Given the description of an element on the screen output the (x, y) to click on. 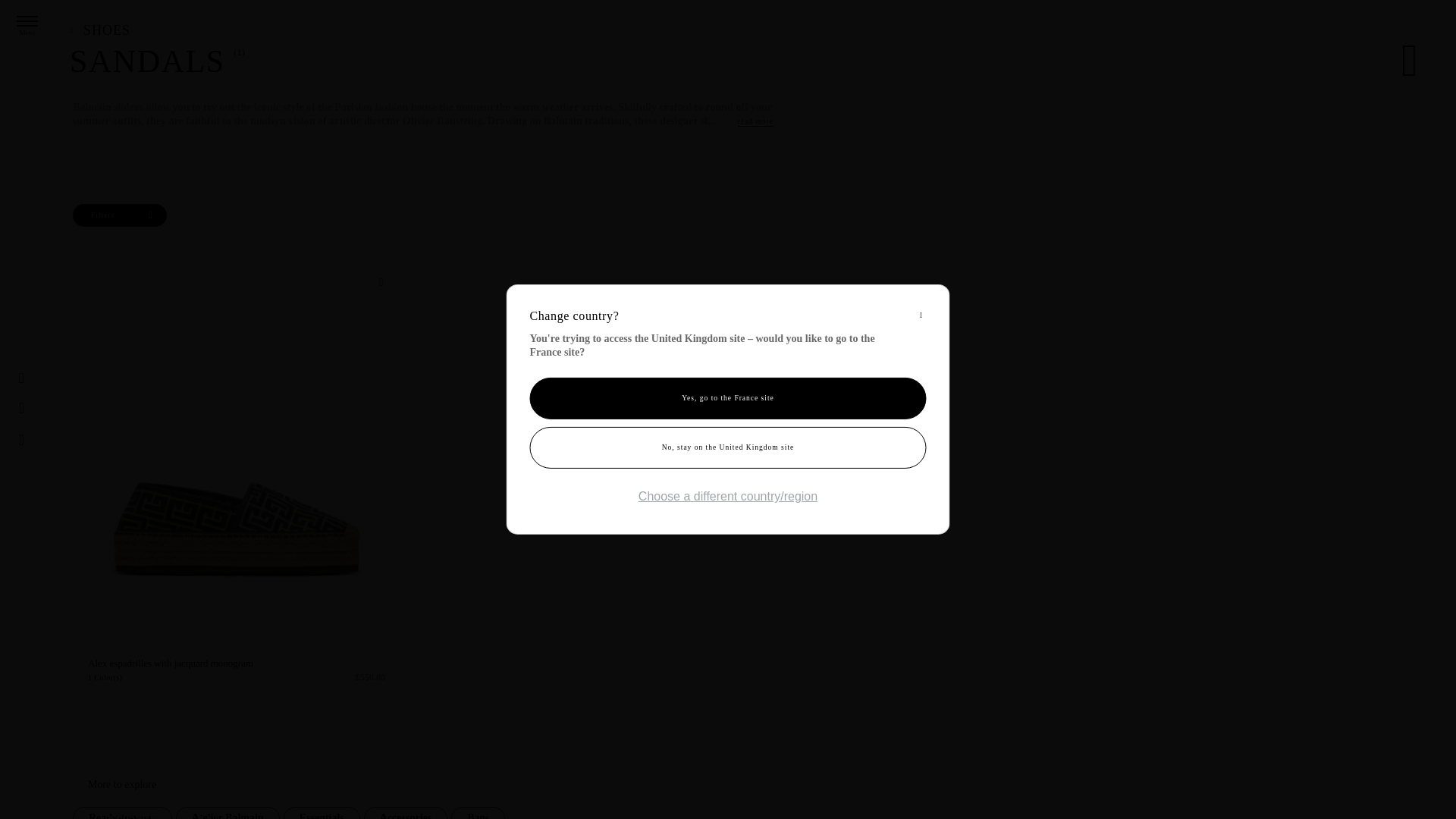
Search (26, 408)
Shopping bag: 0 Items (56, 440)
Menu (26, 20)
